Given the description of an element on the screen output the (x, y) to click on. 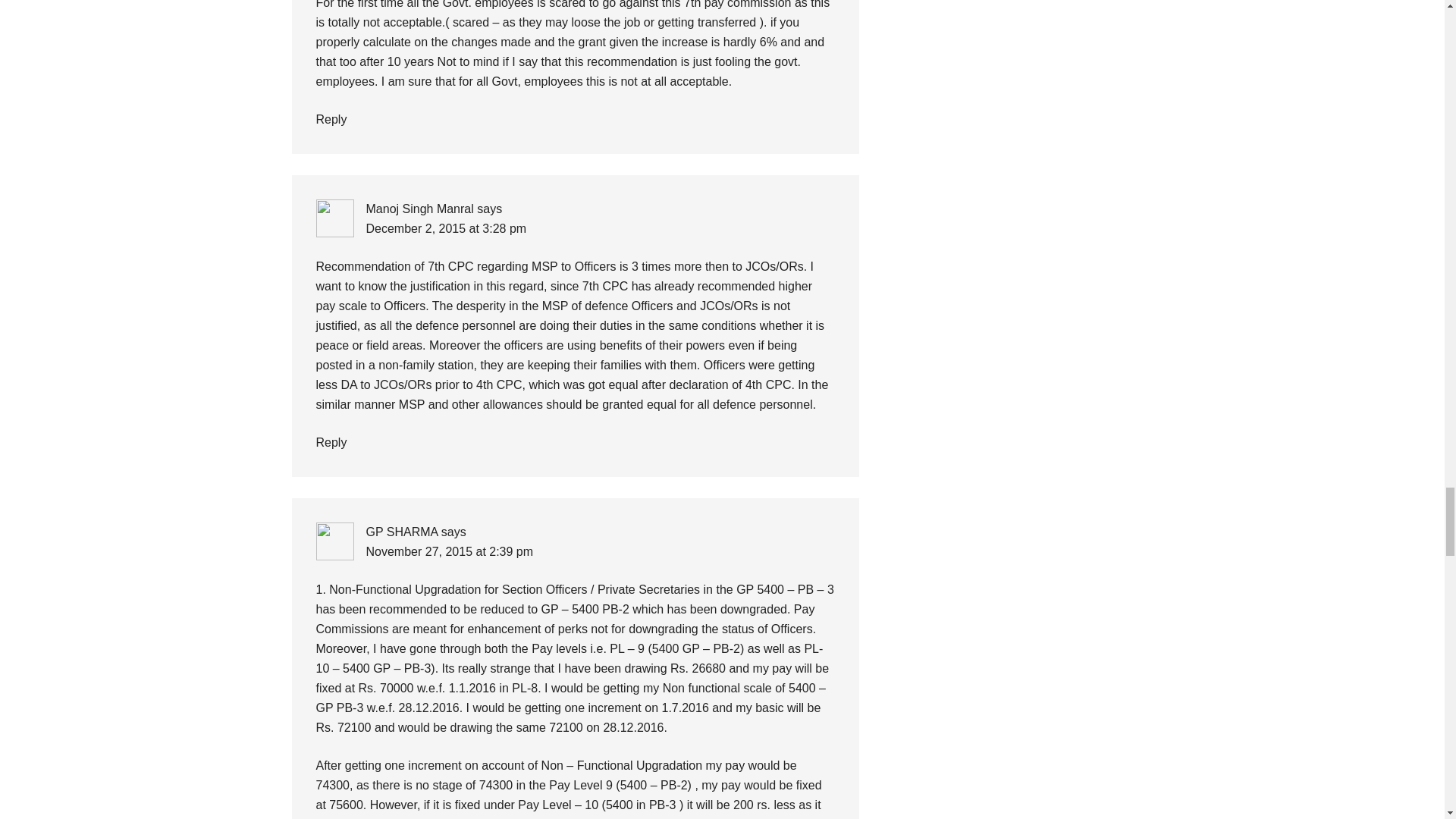
November 27, 2015 at 2:39 pm (448, 551)
Reply (330, 441)
Manoj Singh Manral (419, 208)
Reply (330, 119)
December 2, 2015 at 3:28 pm (445, 228)
